Given the description of an element on the screen output the (x, y) to click on. 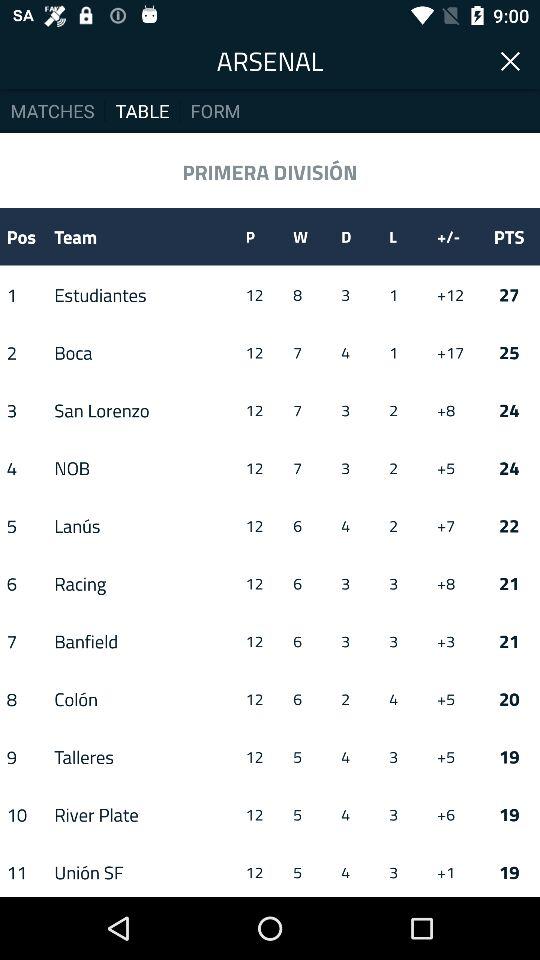
choose item to the right of the matches item (142, 110)
